Given the description of an element on the screen output the (x, y) to click on. 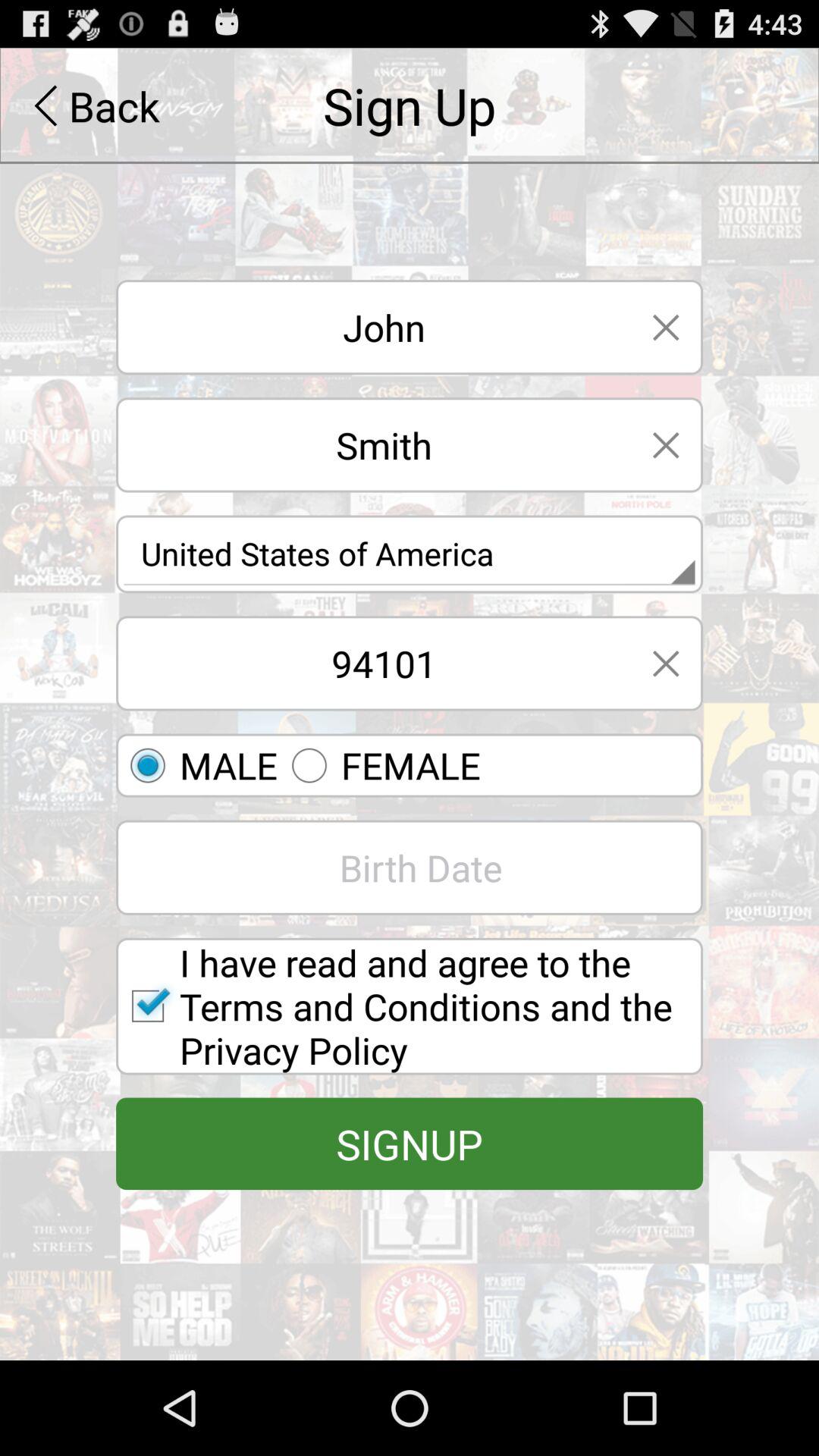
clear field (665, 444)
